Given the description of an element on the screen output the (x, y) to click on. 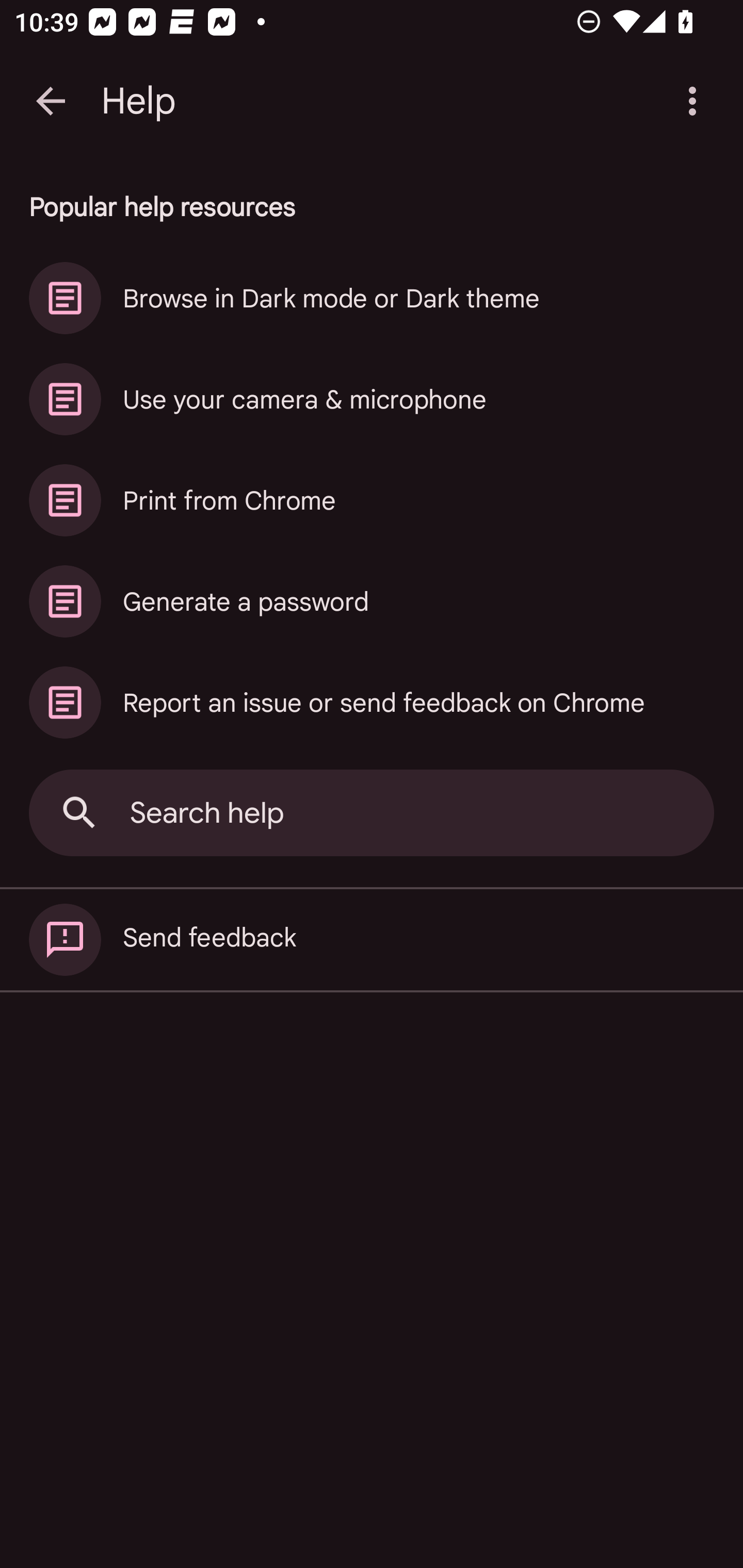
Navigate up (50, 101)
More options (696, 101)
Browse in Dark mode or Dark theme (371, 297)
Use your camera & microphone (371, 399)
Print from Chrome (371, 500)
Generate a password (371, 601)
Report an issue or send feedback on Chrome (371, 702)
Search help (371, 812)
Send feedback (371, 939)
